Given the description of an element on the screen output the (x, y) to click on. 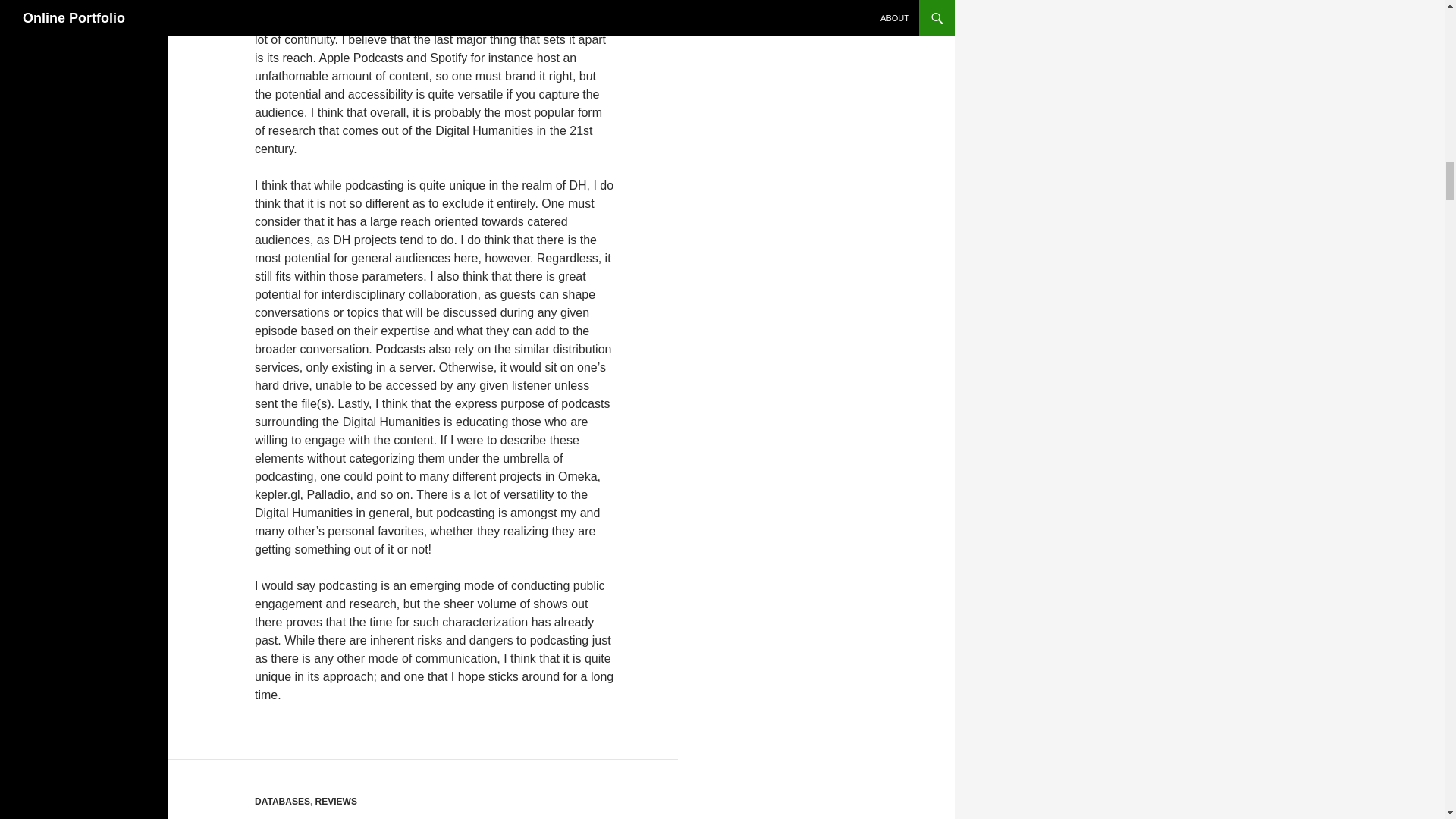
REVIEWS (335, 801)
WHAT CAN DIGITAL HUMANITIES DO WITH CROWDSOURCING? (389, 816)
DATABASES (282, 801)
